Given the description of an element on the screen output the (x, y) to click on. 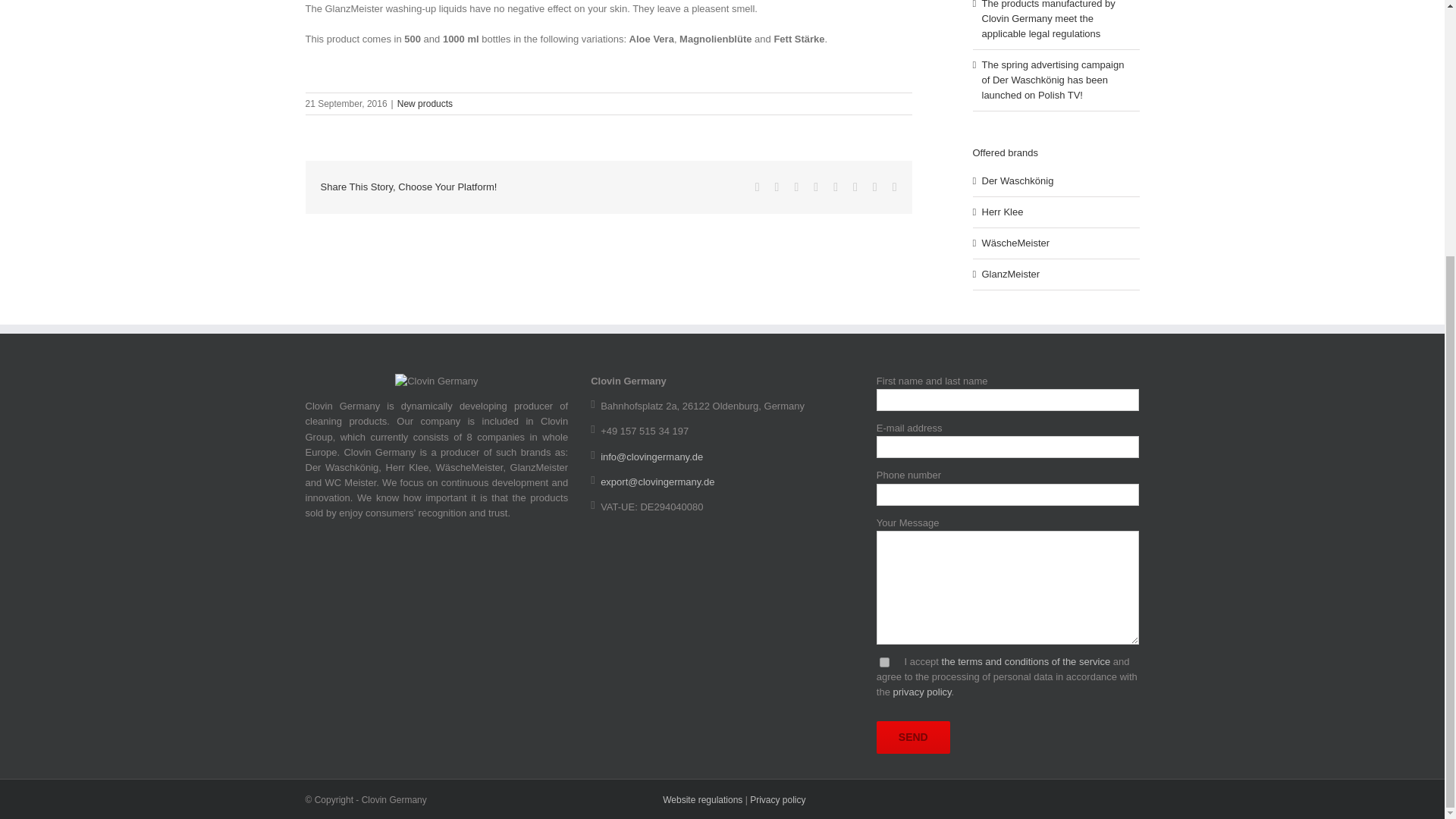
1 (884, 662)
Send (913, 737)
